Given the description of an element on the screen output the (x, y) to click on. 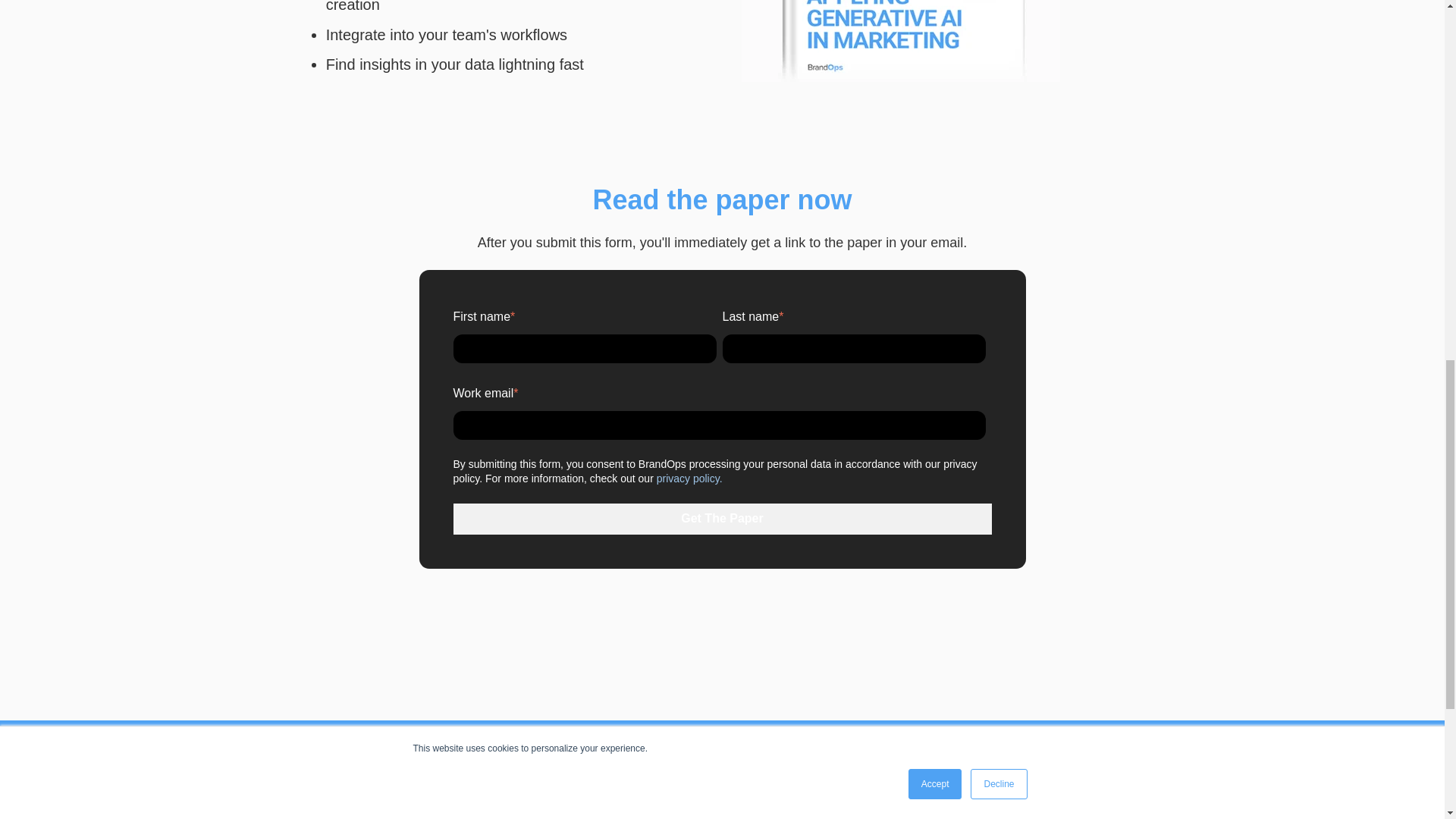
BrandOps (448, 791)
Applying Generative AI in Marketing (900, 40)
Get The Paper (721, 518)
